Given the description of an element on the screen output the (x, y) to click on. 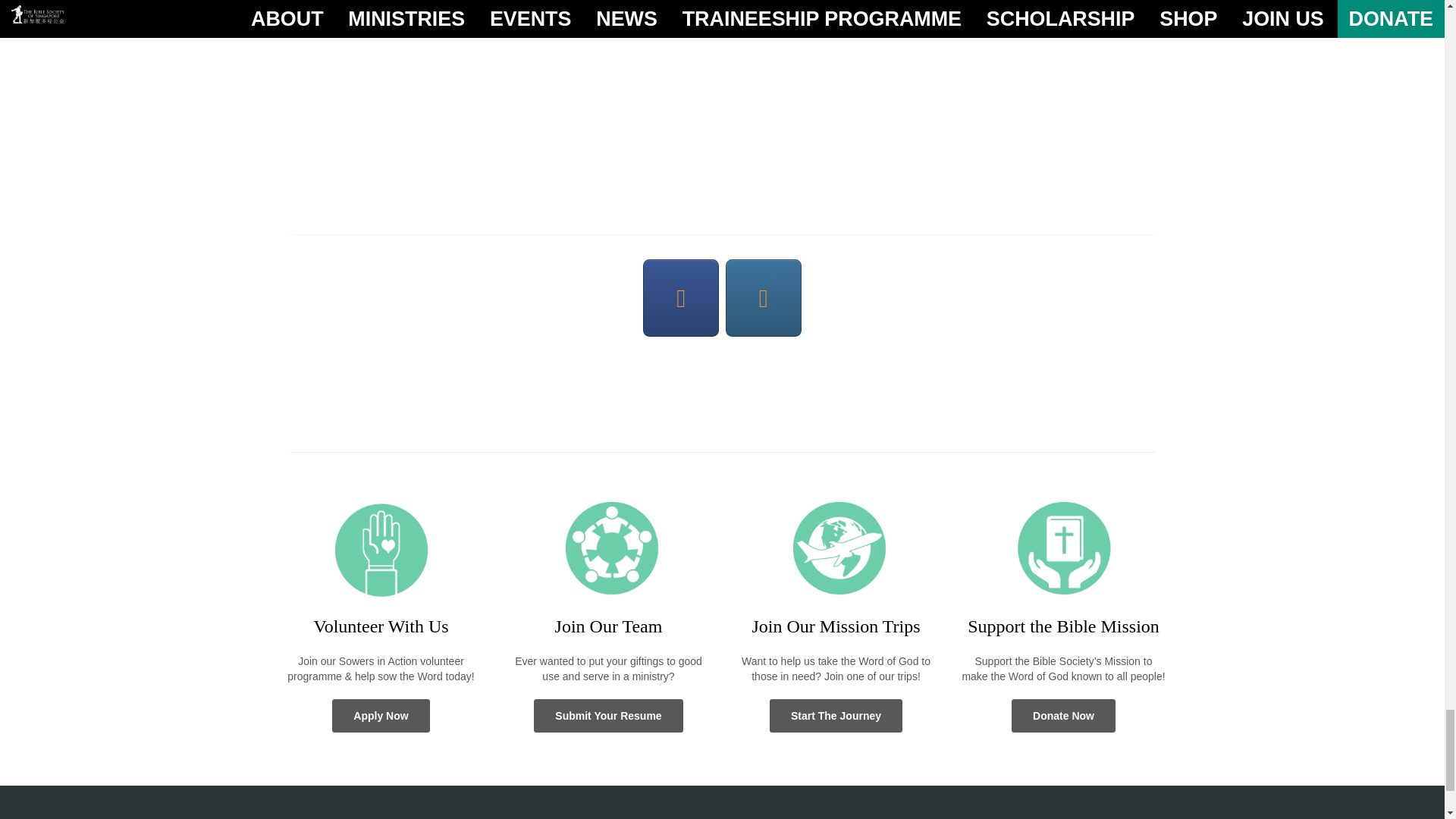
Apply Now (380, 715)
Submit Your Resume (608, 715)
Start The Journey (836, 715)
